Given the description of an element on the screen output the (x, y) to click on. 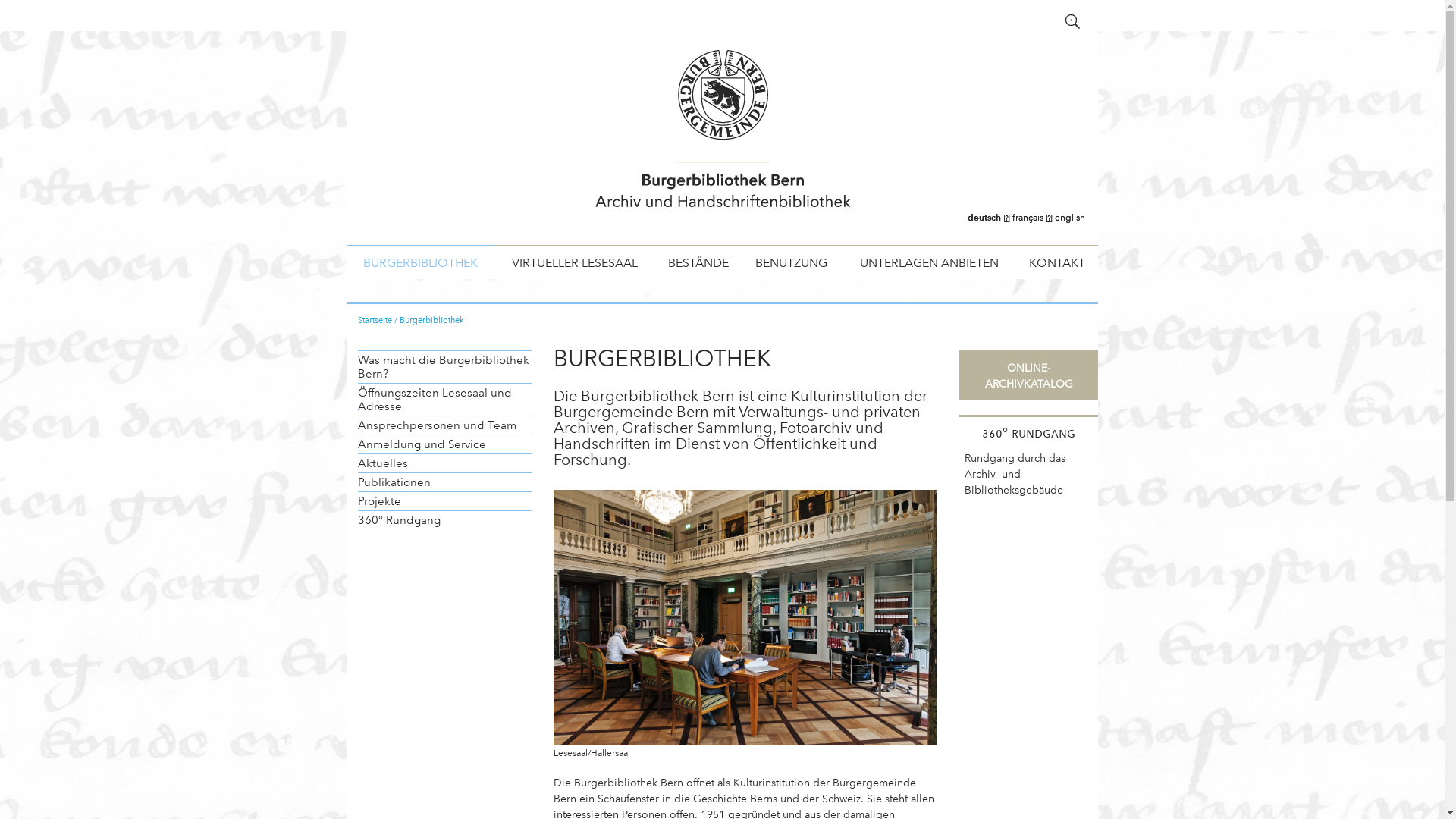
BBB Element type: hover (722, 137)
UNTERLAGEN ANBIETEN Element type: text (928, 262)
BURGERBIBLIOTHEK Element type: text (420, 262)
KONTAKT Element type: text (1057, 262)
Aktuelles Element type: text (444, 462)
Ansprechpersonen und Team Element type: text (444, 424)
Was macht die Burgerbibliothek Bern? Element type: text (444, 366)
Startseite Element type: text (374, 319)
Projekte Element type: text (444, 500)
english Element type: text (1069, 217)
ONLINE-ARCHIVKATALOG Element type: text (1028, 375)
VIRTUELLER LESESAAL Element type: text (574, 262)
BENUTZUNG Element type: text (790, 262)
Anmeldung und Service Element type: text (444, 443)
Publikationen Element type: text (444, 481)
Burgerbibliothek Element type: text (431, 319)
